Given the description of an element on the screen output the (x, y) to click on. 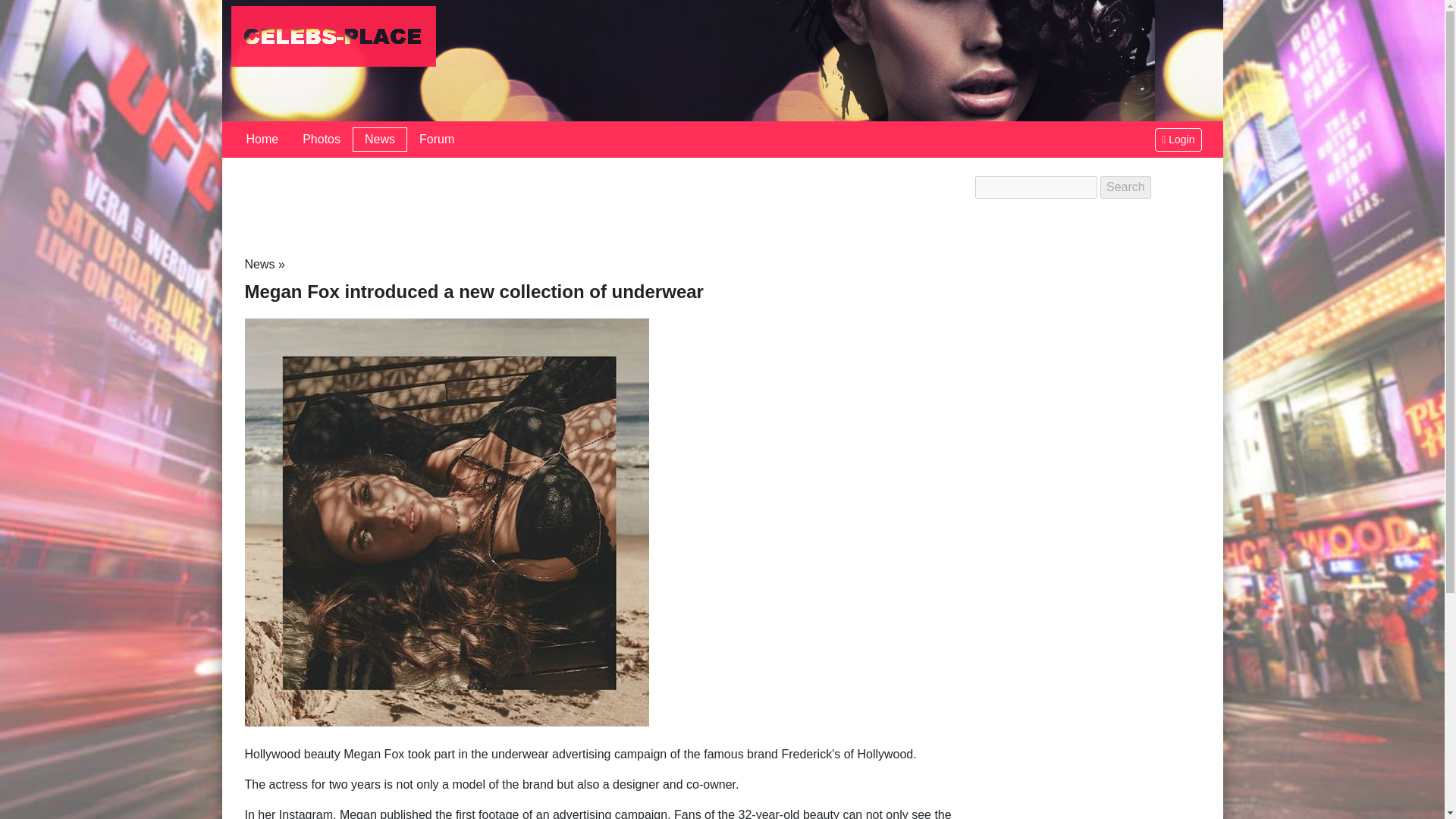
Search (1125, 187)
Megan Fox introduced a new collection of underwear (445, 521)
News (379, 139)
Home (260, 139)
Search (1125, 187)
Advertisement (600, 210)
Photos (320, 139)
Forum (436, 139)
News (259, 264)
Login (1177, 138)
